Given the description of an element on the screen output the (x, y) to click on. 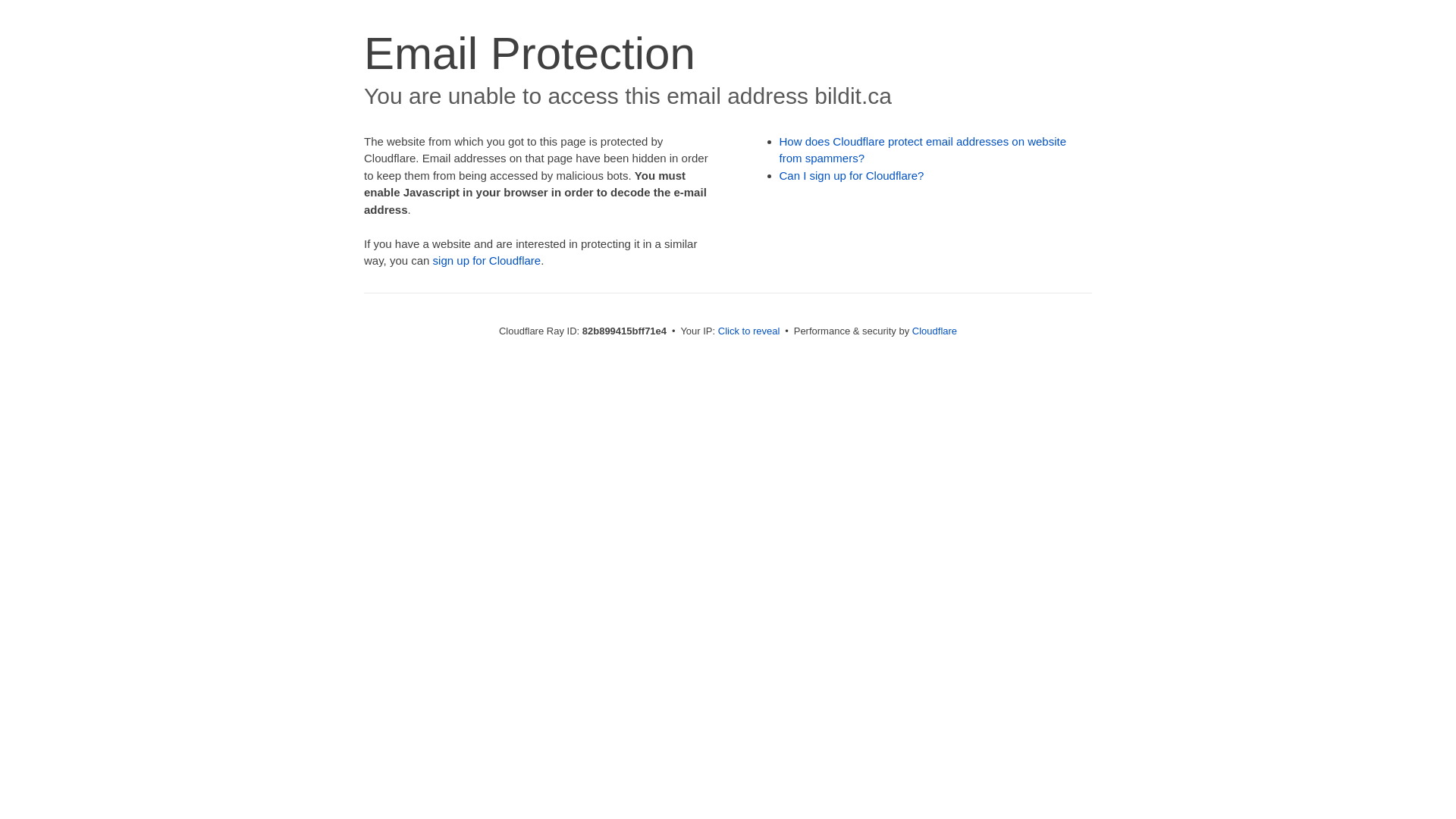
Can I sign up for Cloudflare? Element type: text (851, 175)
Cloudflare Element type: text (934, 330)
Click to reveal Element type: text (749, 330)
sign up for Cloudflare Element type: text (487, 260)
